Given the description of an element on the screen output the (x, y) to click on. 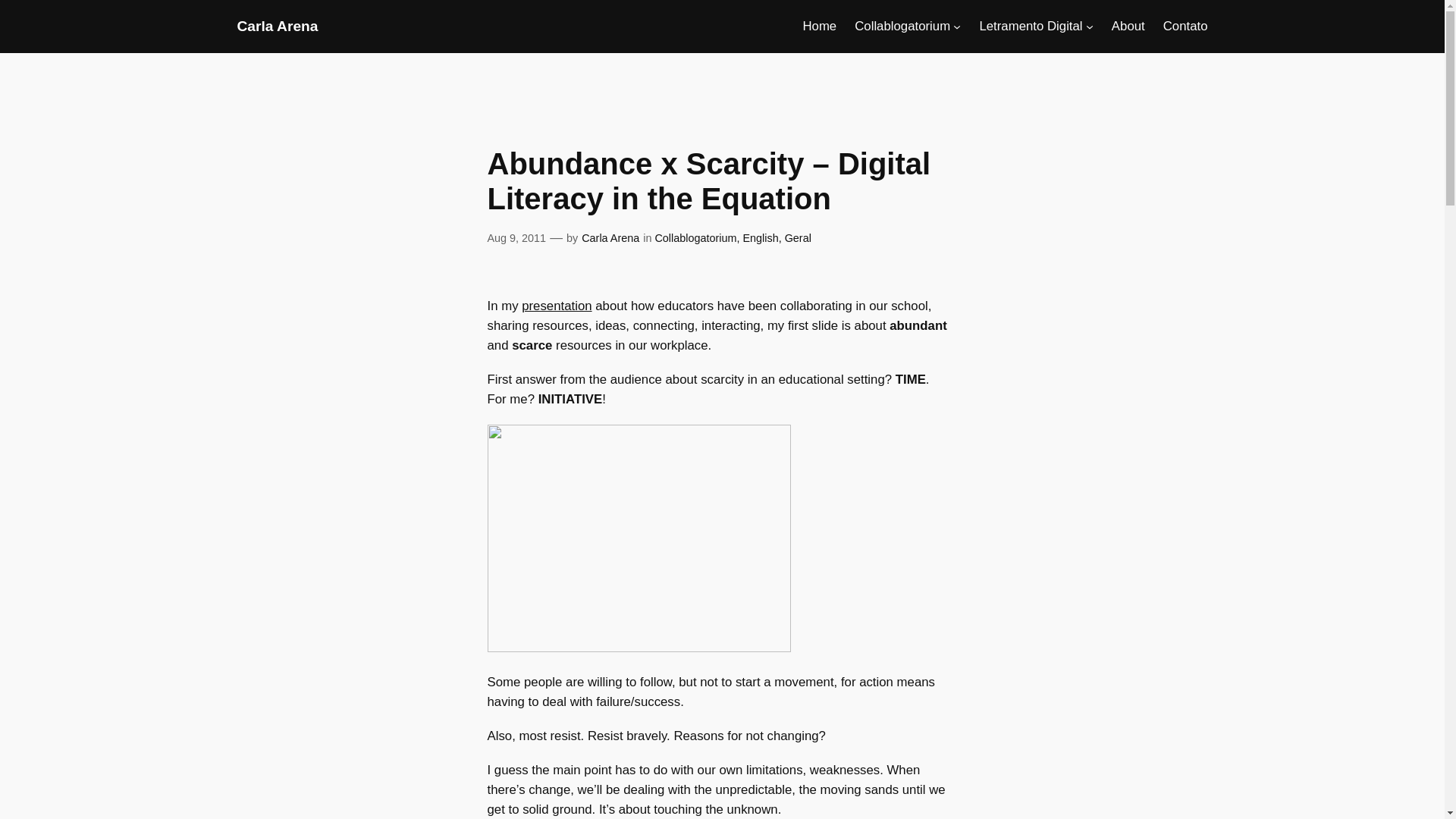
presentation (556, 305)
Collablogatorium (694, 237)
About (1128, 26)
Home (818, 26)
Collablogatorium (902, 26)
Carla Arena (276, 26)
Carla Arena (609, 237)
Letramento Digital (1029, 26)
English (759, 237)
Contato (1185, 26)
